Given the description of an element on the screen output the (x, y) to click on. 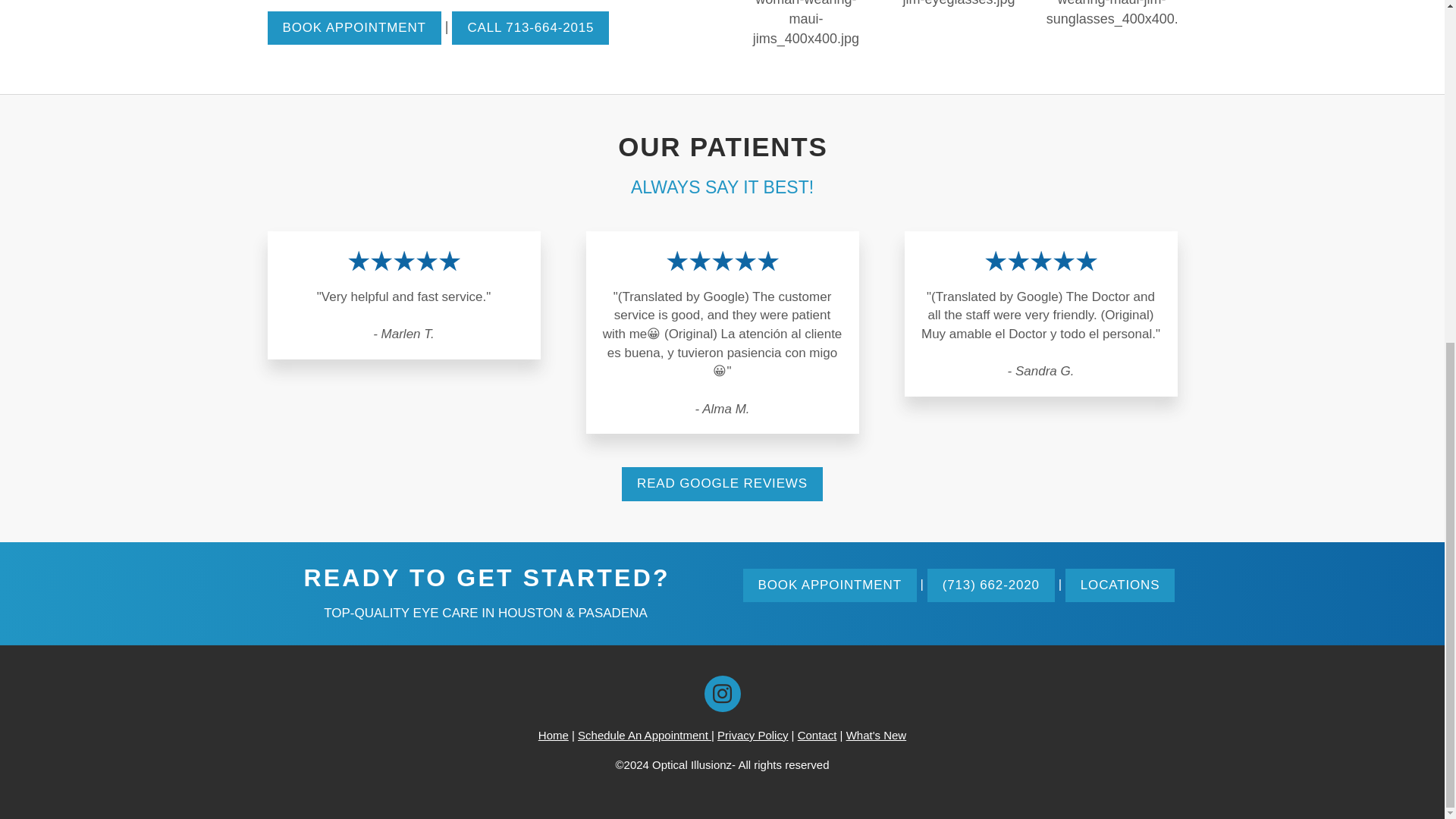
CALL 713-664-2015 (529, 28)
BOOK APPOINTMENT (829, 585)
LOCATIONS (1119, 585)
READ GOOGLE REVIEWS (721, 483)
BOOK APPOINTMENT (353, 28)
